Given the description of an element on the screen output the (x, y) to click on. 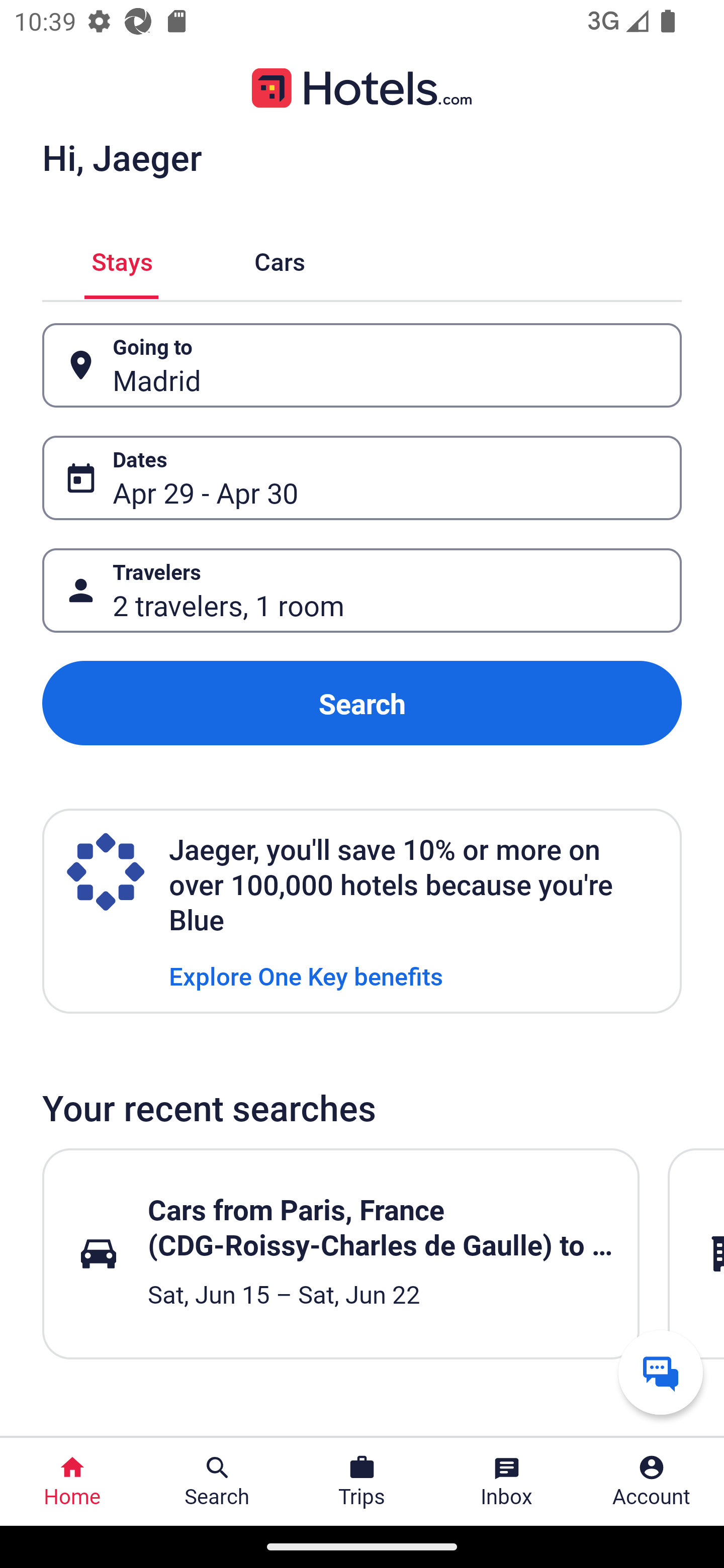
Hi, Jaeger (121, 156)
Cars (279, 259)
Going to Button Madrid (361, 365)
Dates Button Apr 29 - Apr 30 (361, 477)
Travelers Button 2 travelers, 1 room (361, 590)
Search (361, 702)
Get help from a virtual agent (660, 1371)
Search Search Button (216, 1481)
Trips Trips Button (361, 1481)
Inbox Inbox Button (506, 1481)
Account Profile. Button (651, 1481)
